Given the description of an element on the screen output the (x, y) to click on. 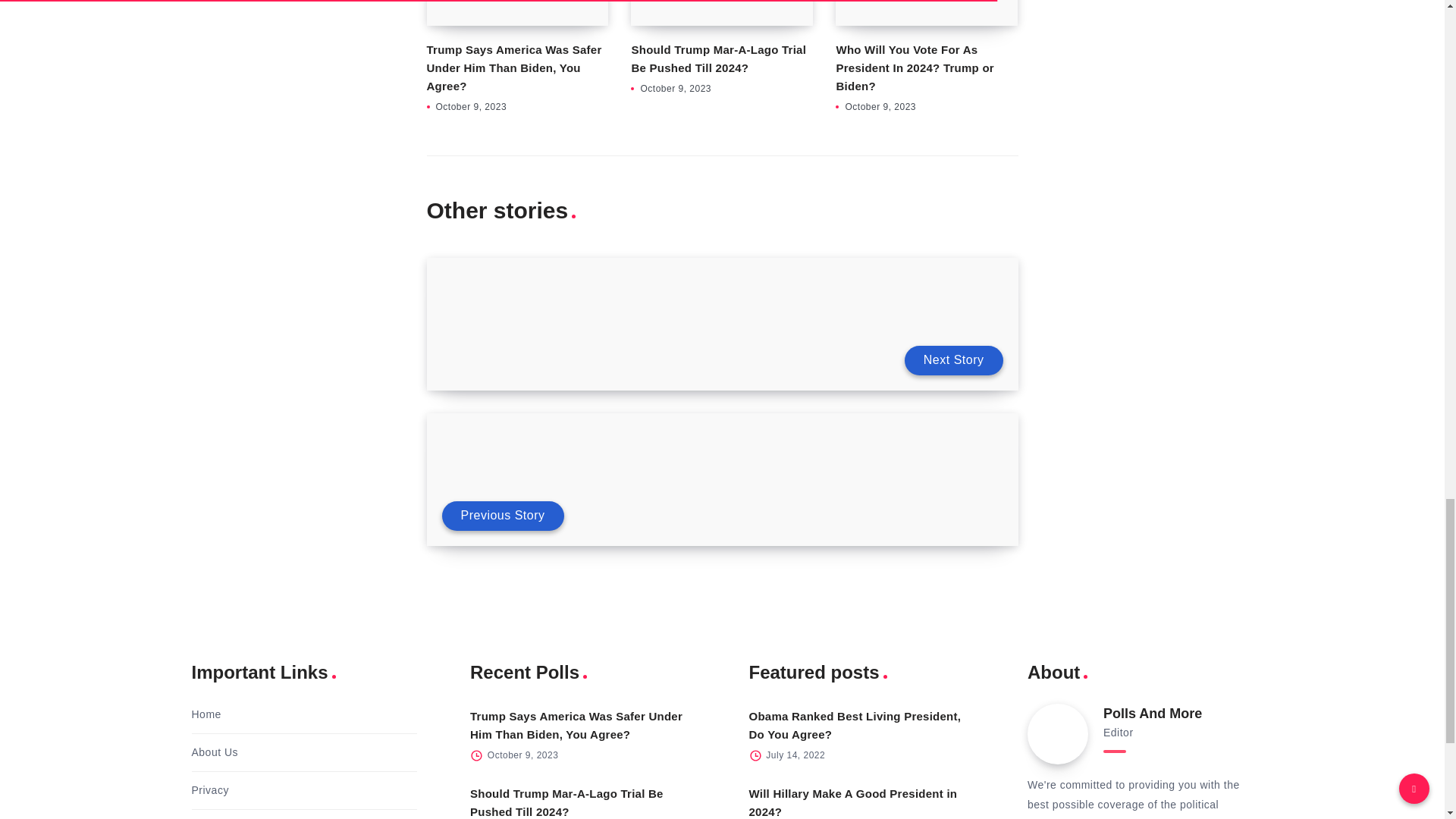
About Us (214, 752)
Should Trump Mar-A-Lago Trial Be Pushed Till 2024? (718, 58)
Obama Ranked Best Living President, Do You Agree? (854, 725)
Who Will You Vote For As President In 2024? Trump or Biden? (913, 67)
Should Trump Mar-A-Lago Trial Be Pushed Till 2024? (566, 802)
Privacy (209, 790)
Home (205, 714)
Will Hillary Make A Good President in 2024? (853, 802)
